Given the description of an element on the screen output the (x, y) to click on. 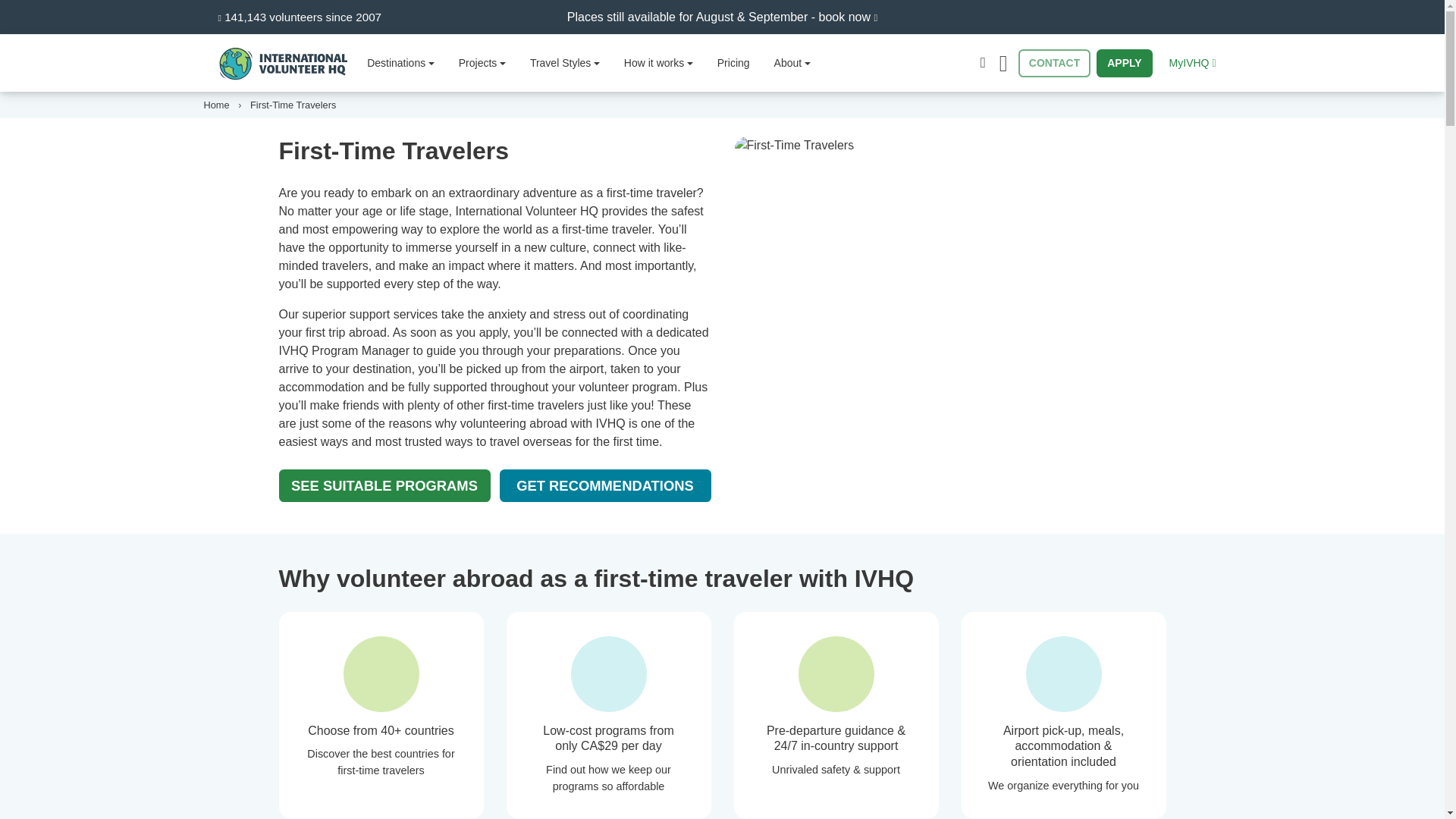
Destinations (401, 62)
Go to MyIVHQ (1192, 62)
